Given the description of an element on the screen output the (x, y) to click on. 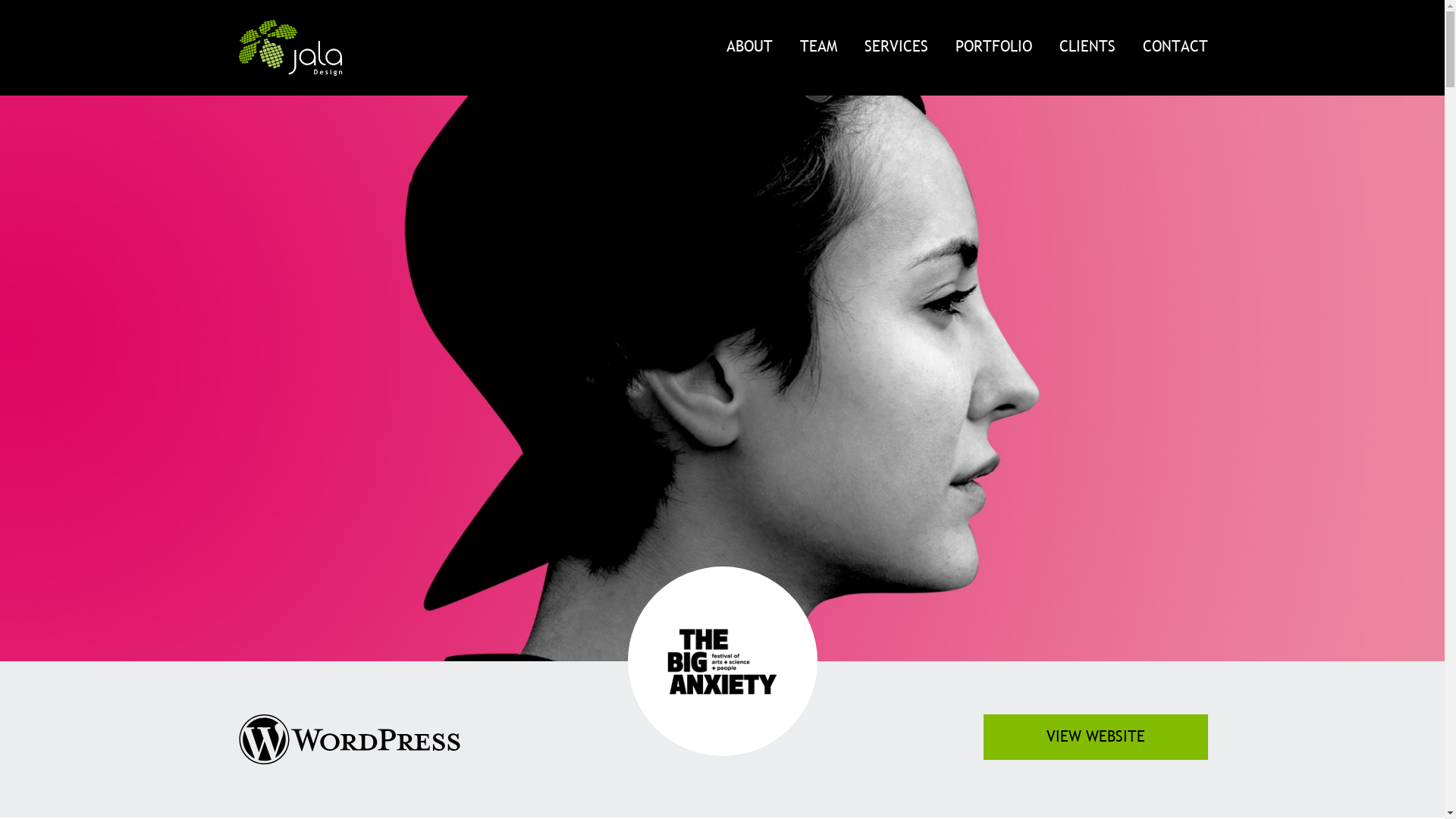
PORTFOLIO Element type: text (993, 46)
VIEW WEBSITE Element type: text (1094, 736)
Jala Design | Website Design, Sydney, Australia Element type: hover (289, 47)
ABOUT Element type: text (749, 46)
CONTACT Element type: text (1167, 46)
TEAM Element type: text (817, 46)
CLIENTS Element type: text (1086, 46)
SERVICES Element type: text (895, 46)
